Given the description of an element on the screen output the (x, y) to click on. 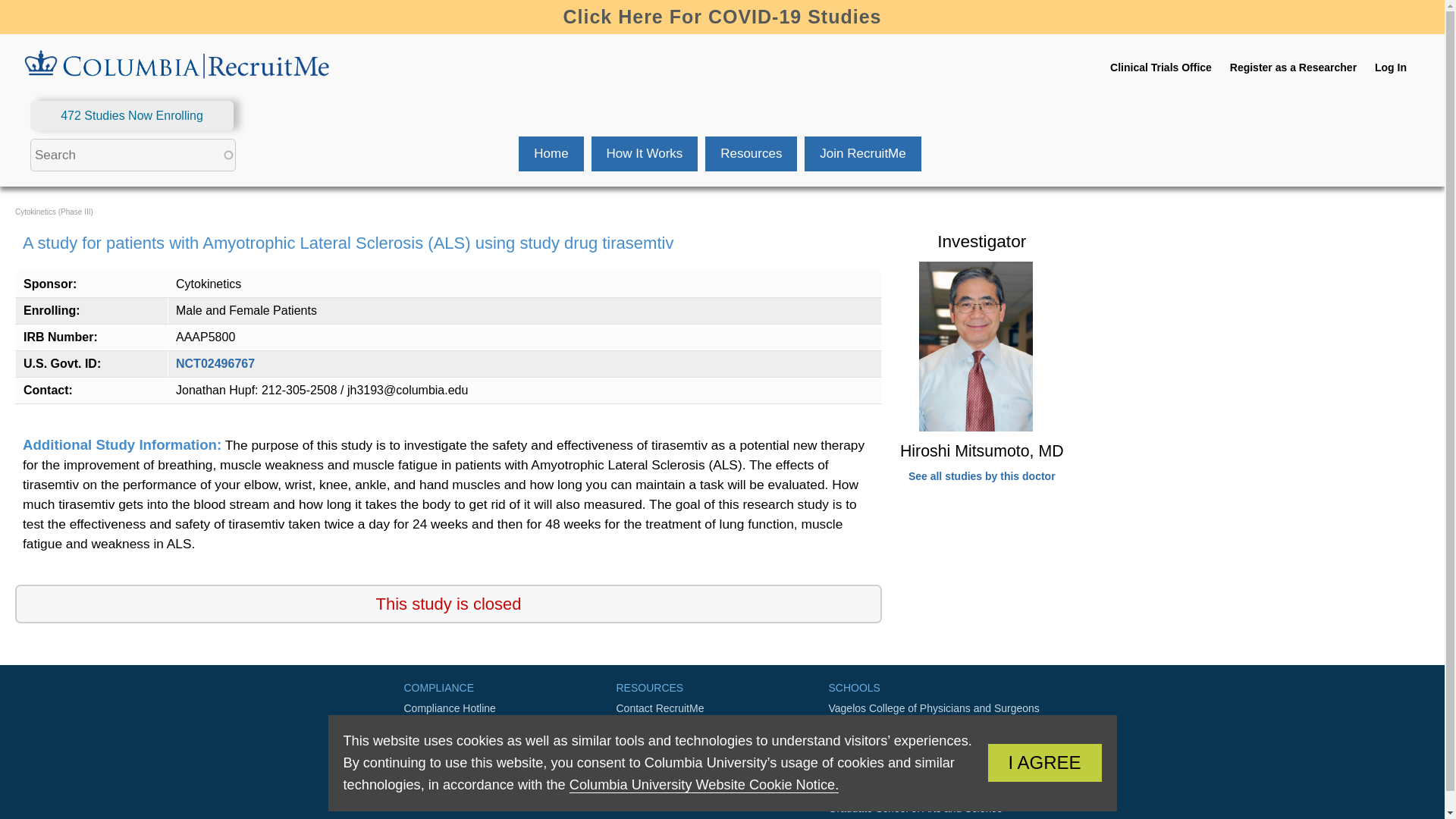
Graduate School of Arts and Science (934, 807)
Resources (750, 153)
Mailman School of Public Health (934, 733)
How It Works (644, 153)
Register as a Researcher (1293, 67)
See all studies by this doctor (981, 476)
Contact RecruitMe (721, 708)
Clinical Trials Office (1161, 67)
Compliance Hotline (509, 708)
Privacy Policy (721, 758)
Columbia University Website Cookie Notice. (703, 785)
Join RecruitMe (862, 153)
School of Nursing (934, 758)
College of Dental Medicine (934, 783)
Log In (1390, 67)
